Given the description of an element on the screen output the (x, y) to click on. 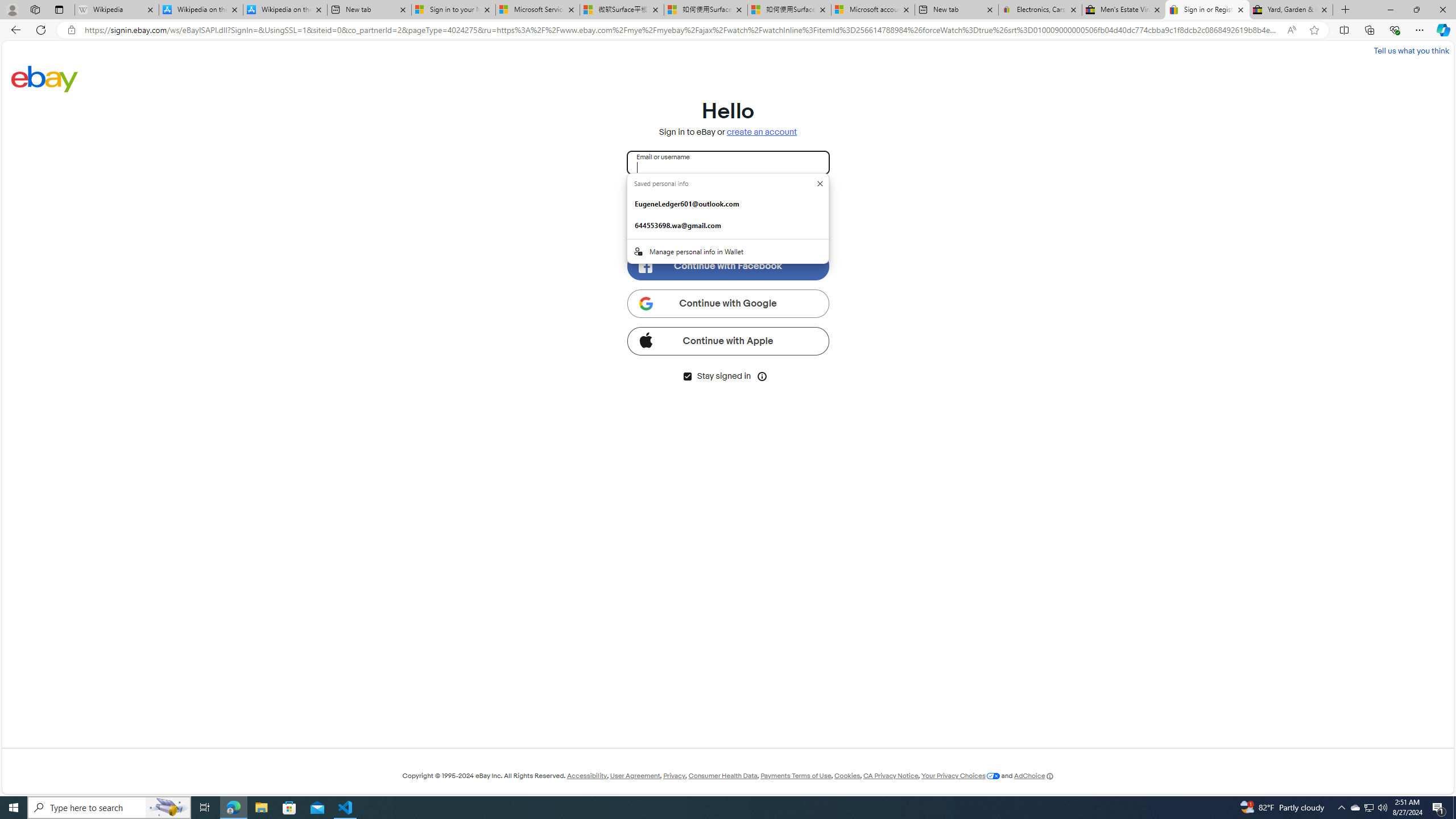
AdChoice (1033, 775)
Yard, Garden & Outdoor Living (1291, 9)
Don't show saved information (820, 183)
Wikipedia - Sleeping (116, 9)
Class: apple-icon (645, 339)
Payments Terms of Use (795, 775)
Sign in to your Microsoft account (453, 9)
Class: ggl-icon (645, 303)
Continue (727, 198)
Consumer Health Data (722, 775)
